Given the description of an element on the screen output the (x, y) to click on. 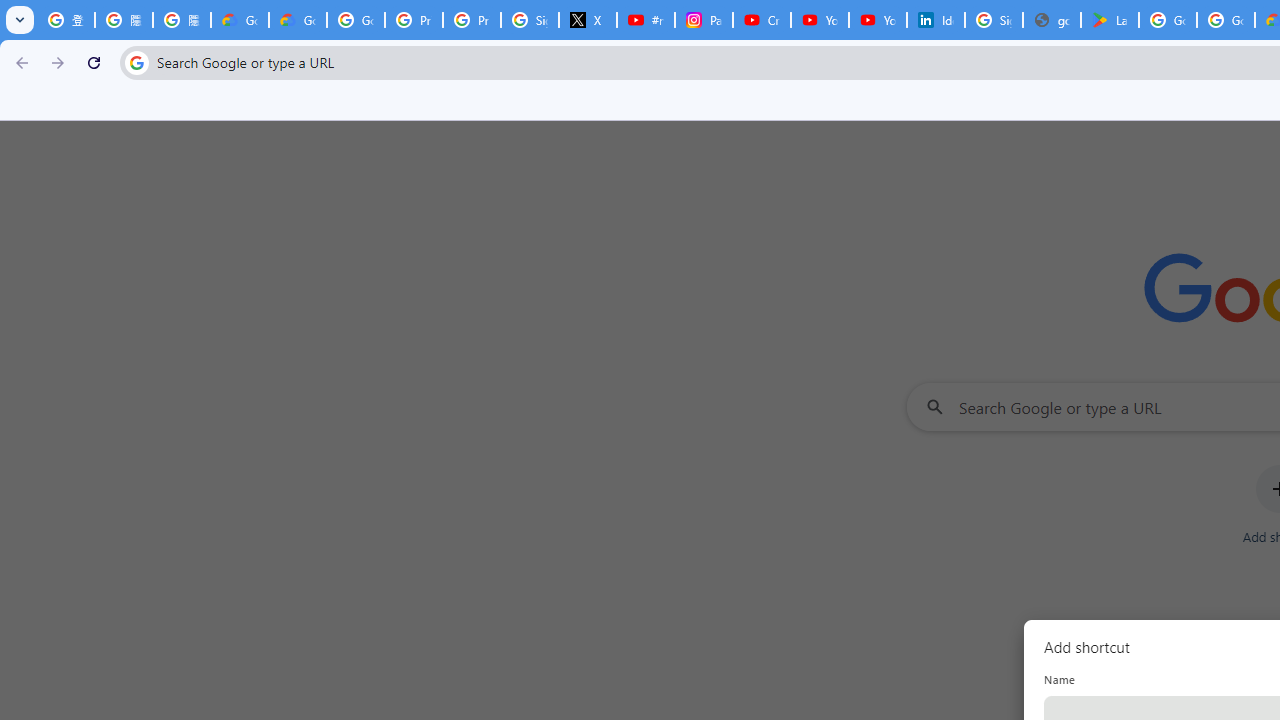
Google Workspace - Specific Terms (1225, 20)
Google Cloud Privacy Notice (239, 20)
Google Cloud Privacy Notice (297, 20)
#nbabasketballhighlights - YouTube (645, 20)
